Given the description of an element on the screen output the (x, y) to click on. 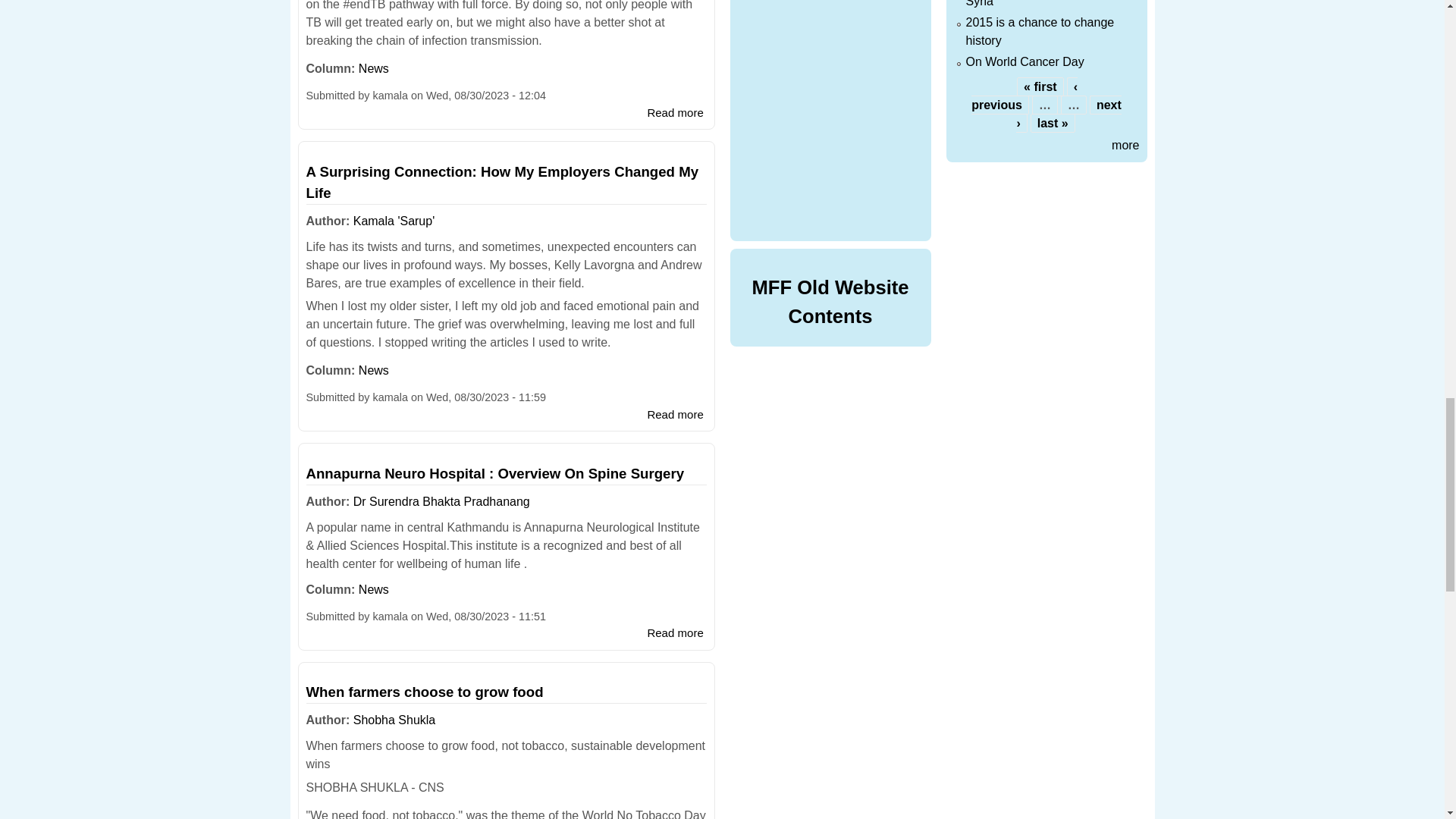
Annapurna Neuro Hospital : Overview On Spine Surgery (494, 473)
Early and accurate TB diagnosis is the gateway (674, 112)
When farmers choose to grow food (424, 691)
News (373, 589)
A Surprising Connection: How My Employers Changed My Life (501, 181)
Shobha Shukla (394, 719)
A Surprising Connection: How My Employers Changed My Life (674, 413)
Dr Surendra Bhakta Pradhanang (441, 501)
News (373, 68)
News (373, 369)
Kamala 'Sarup' (394, 220)
Annapurna Neuro Hospital : Overview On Spine Surgery (674, 632)
